Given the description of an element on the screen output the (x, y) to click on. 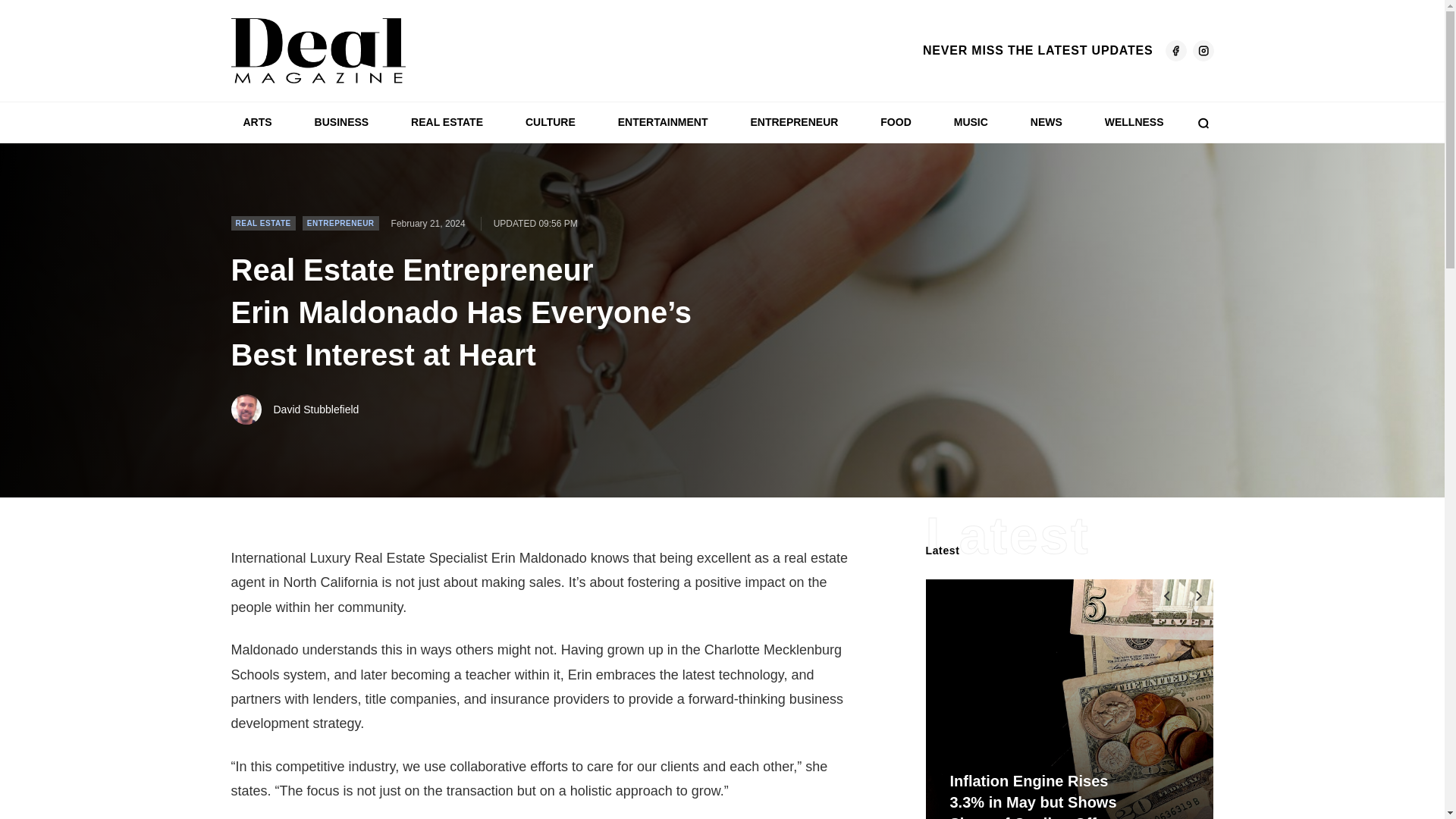
ENTREPRENEUR (340, 223)
CULTURE (550, 122)
ARTS (256, 122)
REAL ESTATE (446, 122)
ENTERTAINMENT (662, 122)
REAL ESTATE (262, 223)
NEWS (1045, 122)
FOOD (895, 122)
BUSINESS (341, 122)
WELLNESS (1134, 122)
MUSIC (971, 122)
ENTREPRENEUR (794, 122)
